Given the description of an element on the screen output the (x, y) to click on. 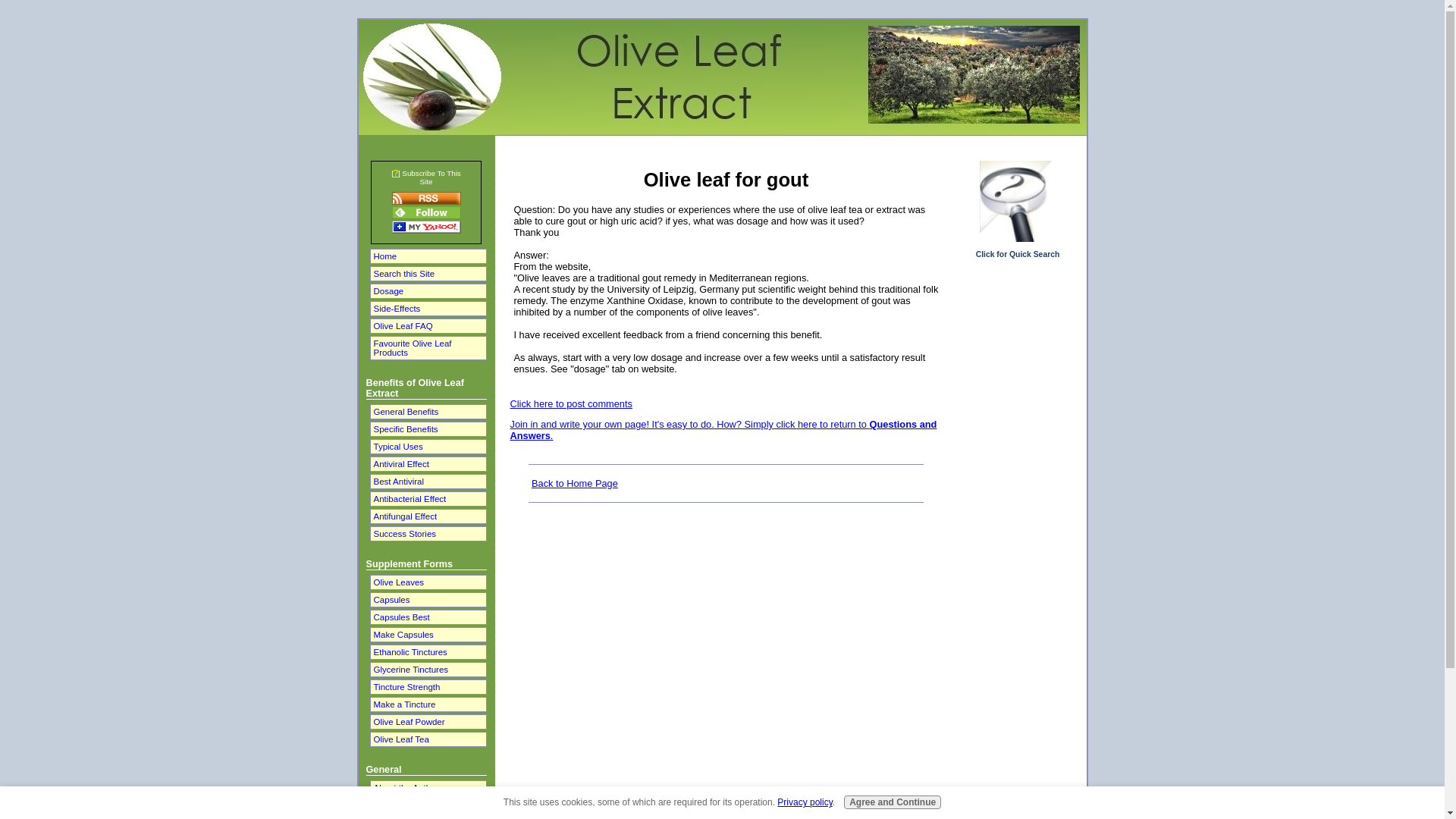
Typical Uses (426, 446)
Olive Leaf Tea (426, 739)
Glycerine Tinctures (426, 669)
Antifungal Effect (426, 516)
Contact Us (426, 805)
Side-Effects (426, 308)
Olive Leaf Powder (426, 721)
Best Antiviral (426, 481)
Favourite Olive Leaf Products (426, 347)
Home (426, 255)
